Given the description of an element on the screen output the (x, y) to click on. 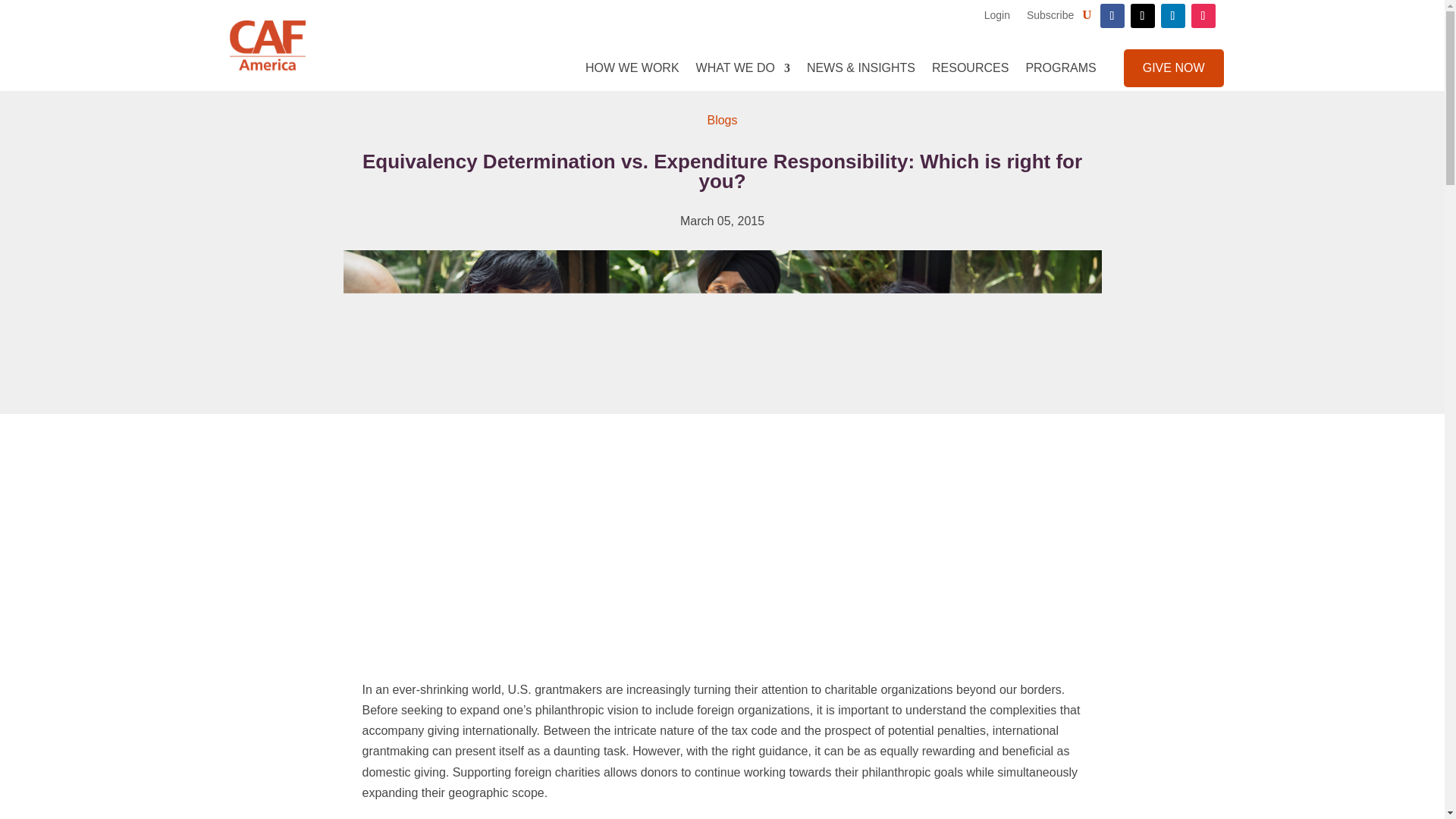
Follow on X (1141, 15)
HOW WE WORK (632, 67)
Follow on LinkedIn (1172, 15)
Blogs (721, 119)
PROGRAMS (1060, 67)
Follow on Instagram (1202, 15)
WHAT WE DO (742, 67)
Login (997, 15)
RESOURCES (970, 67)
Follow on Facebook (1111, 15)
GIVE NOW (1173, 67)
Subscribe (1050, 15)
